Given the description of an element on the screen output the (x, y) to click on. 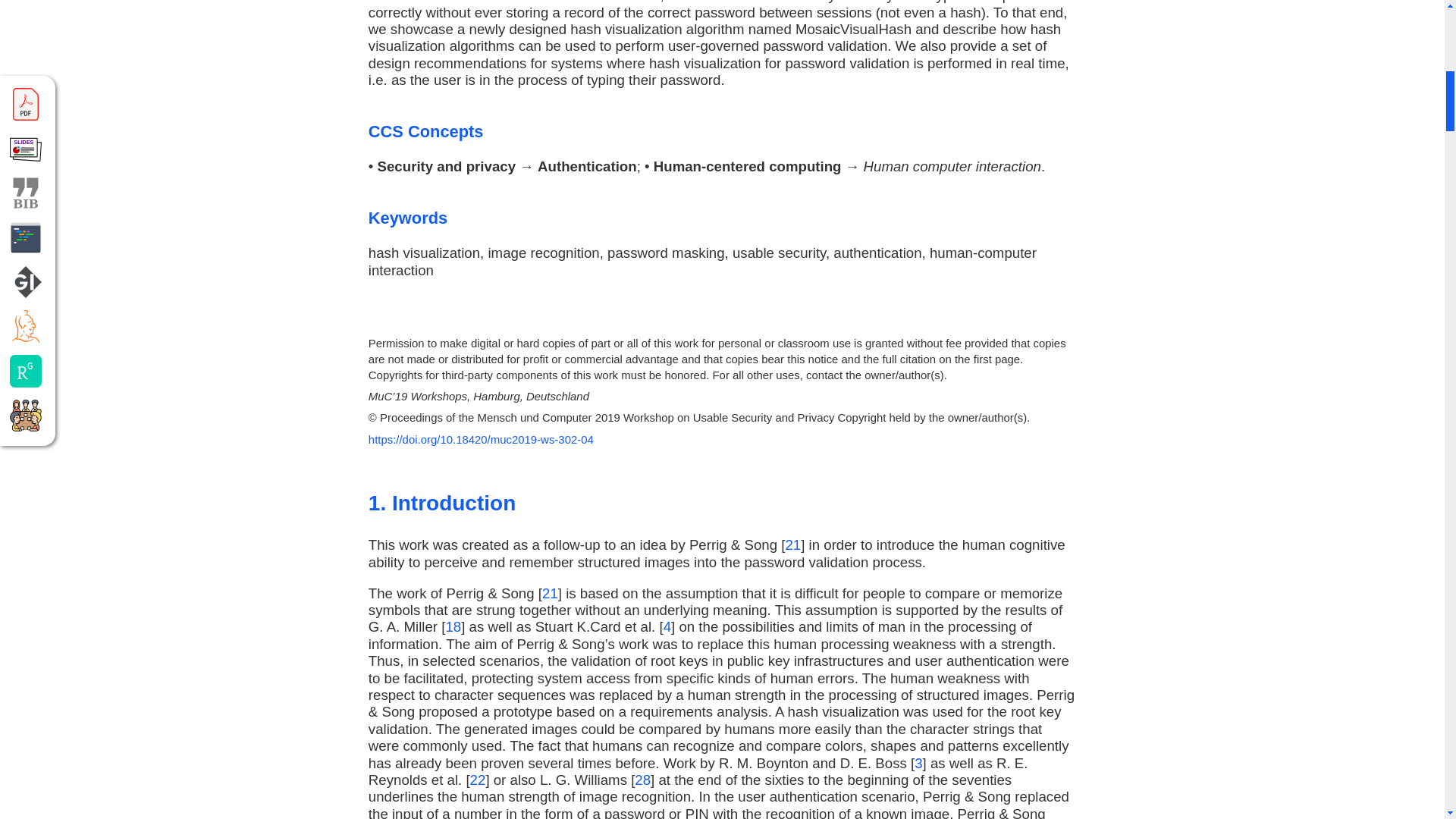
21 (792, 544)
22 (478, 779)
18 (453, 626)
28 (642, 779)
21 (549, 593)
